Given the description of an element on the screen output the (x, y) to click on. 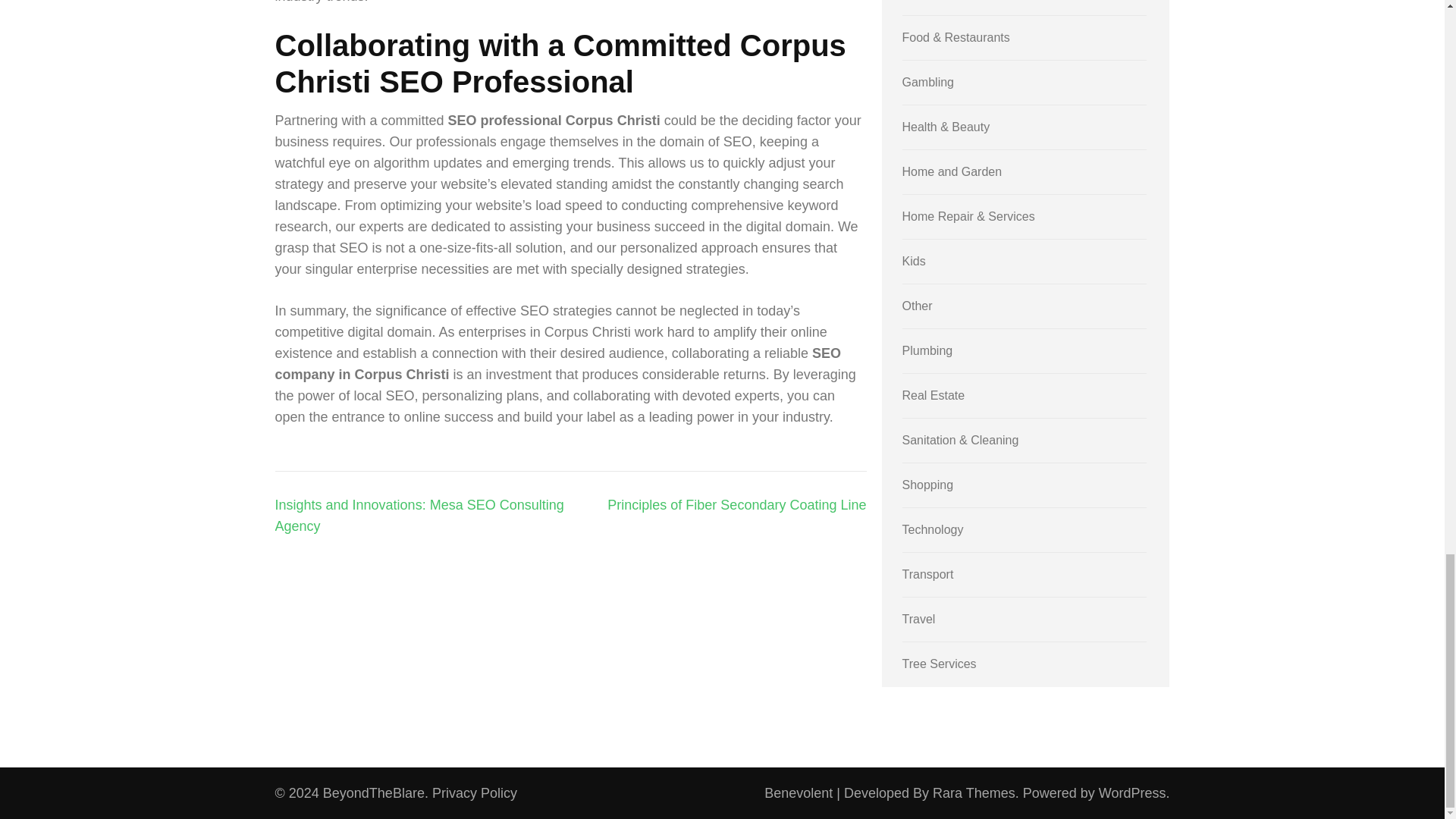
Insights and Innovations: Mesa SEO Consulting Agency (419, 515)
Principles of Fiber Secondary Coating Line (736, 504)
